Given the description of an element on the screen output the (x, y) to click on. 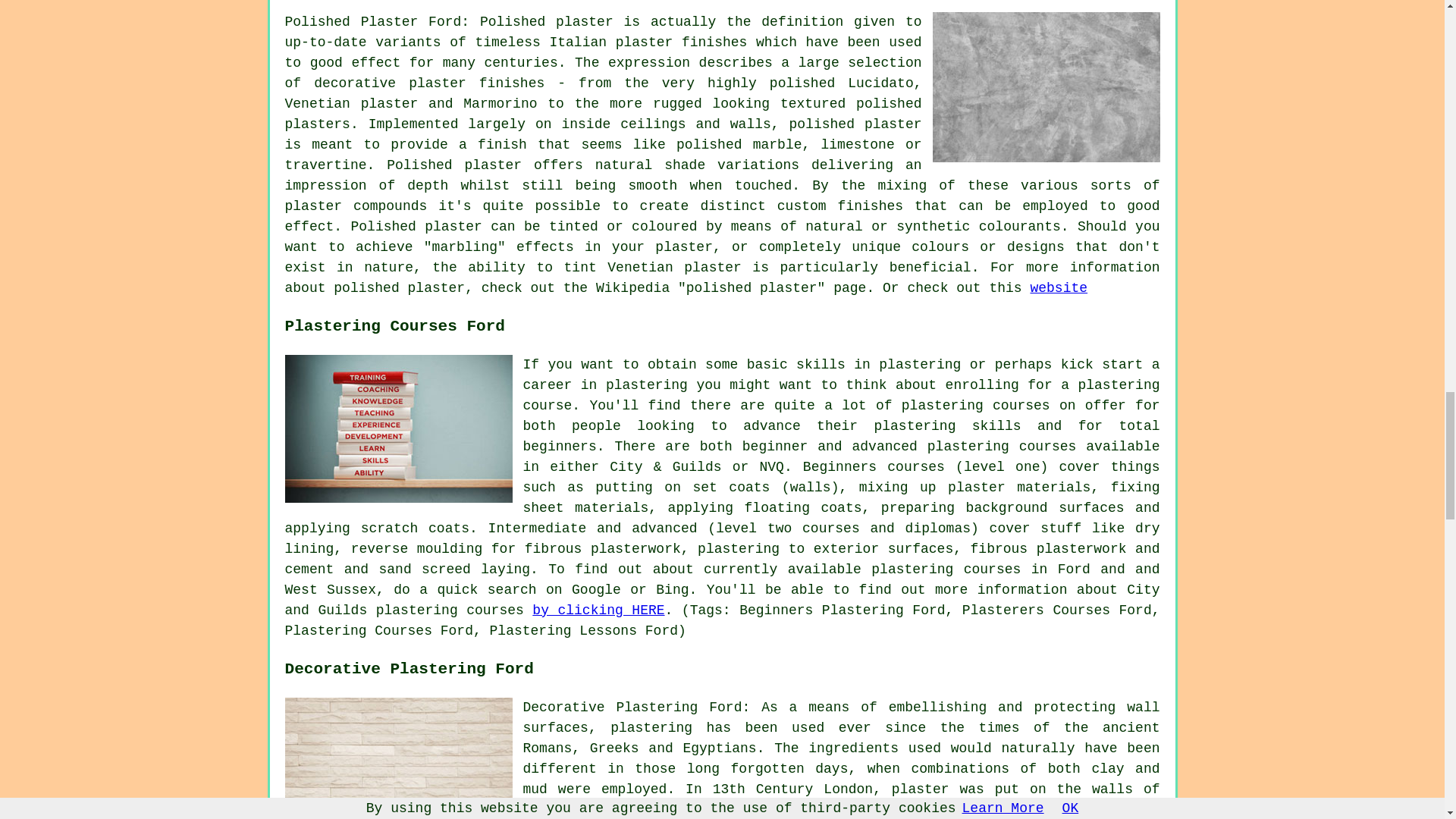
Plastering Courses Ford West Sussex (398, 428)
Decorative Plastering Ford (398, 758)
Polished Plaster Ford (1046, 87)
